Given the description of an element on the screen output the (x, y) to click on. 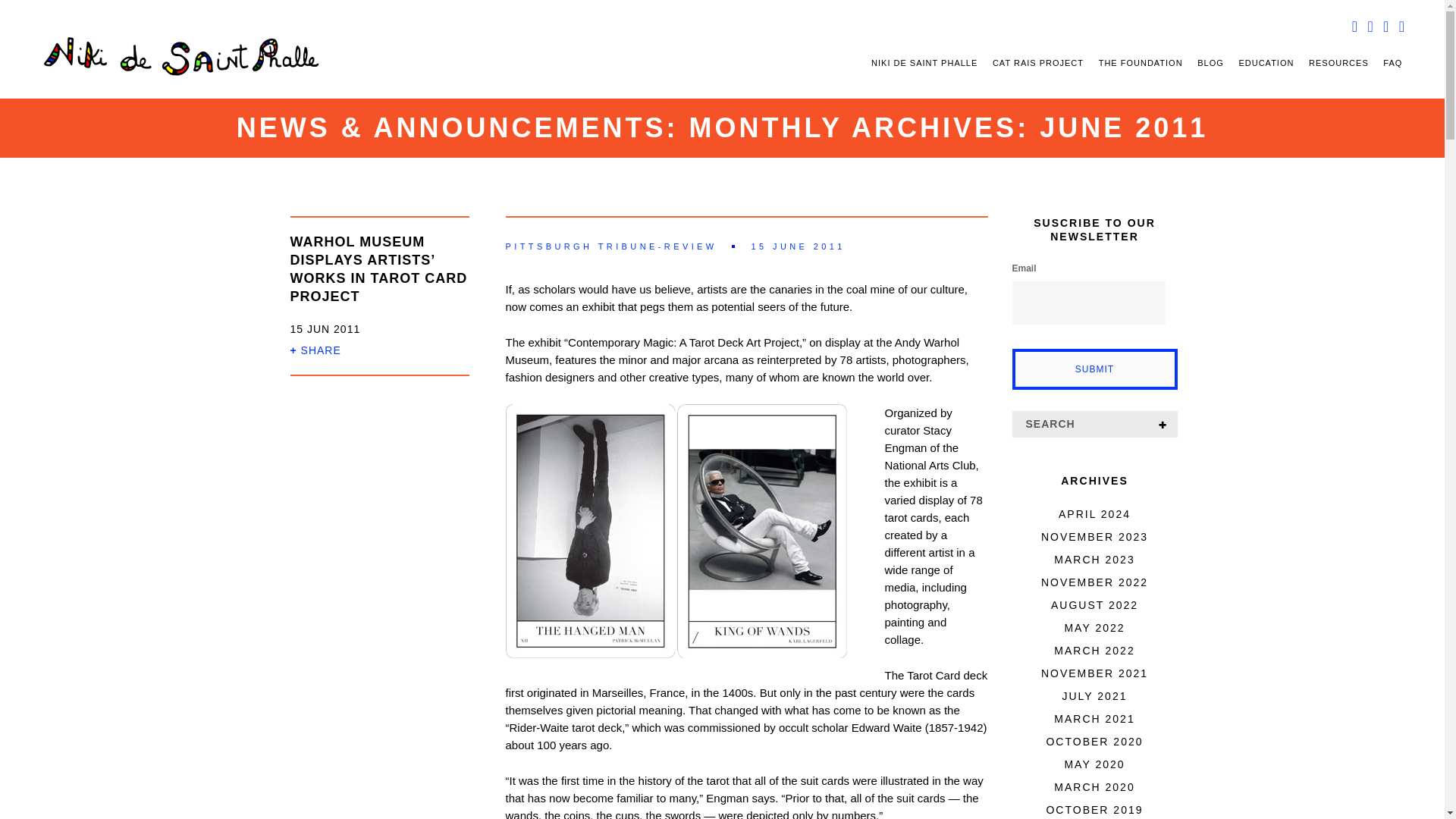
NIKI DE SAINT PHALLE (924, 62)
THE FOUNDATION (1141, 62)
CAT RAIS PROJECT (1038, 62)
Submit (1093, 368)
EDUCATION (1265, 62)
RESOURCES (1338, 62)
BLOG (1210, 62)
Search (1162, 424)
